Given the description of an element on the screen output the (x, y) to click on. 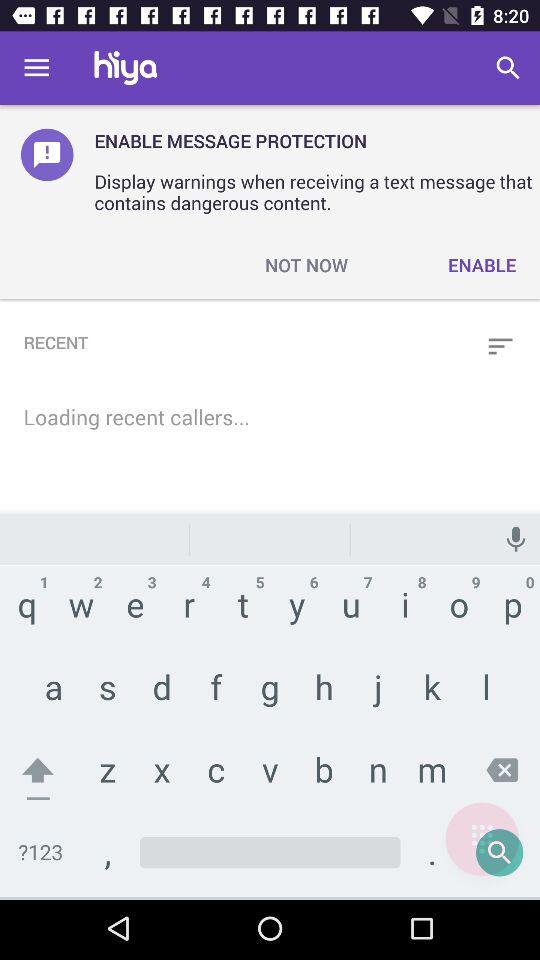
menu page (482, 839)
